Given the description of an element on the screen output the (x, y) to click on. 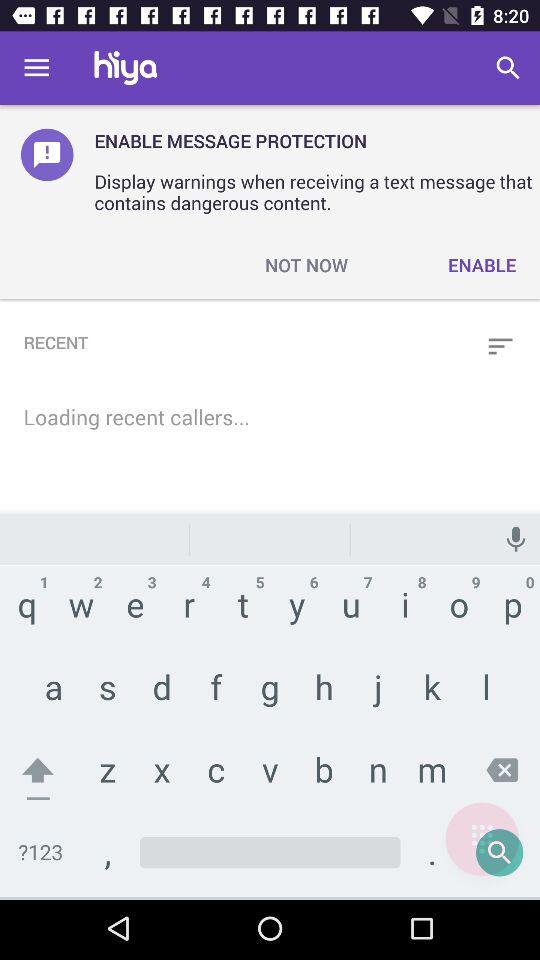
menu page (482, 839)
